Given the description of an element on the screen output the (x, y) to click on. 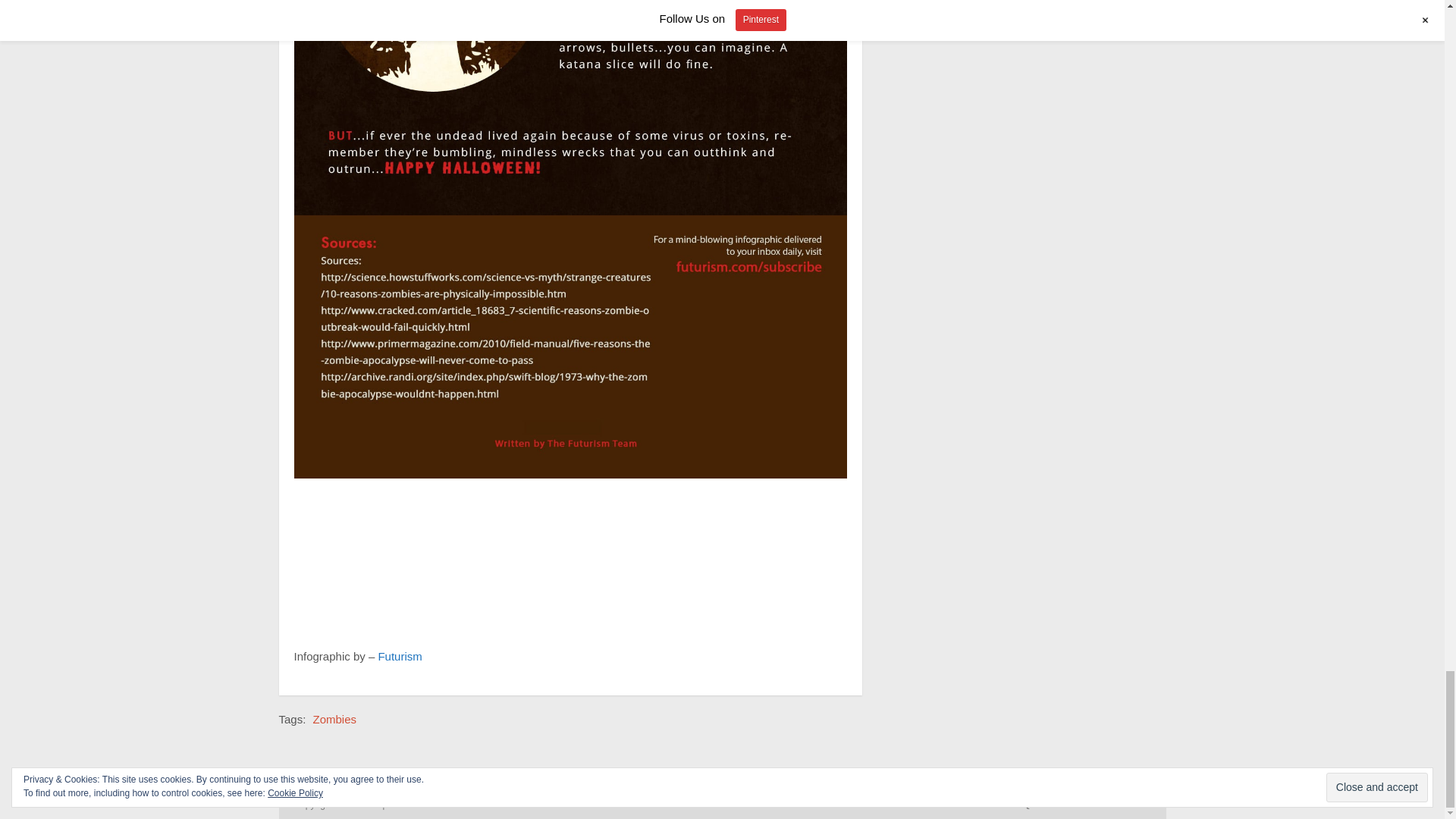
Zombies (334, 718)
Futurism (399, 656)
Destination For Best Infographics (397, 804)
GraphicsPedia  (397, 804)
PRIVACY POLICY (1115, 805)
